Given the description of an element on the screen output the (x, y) to click on. 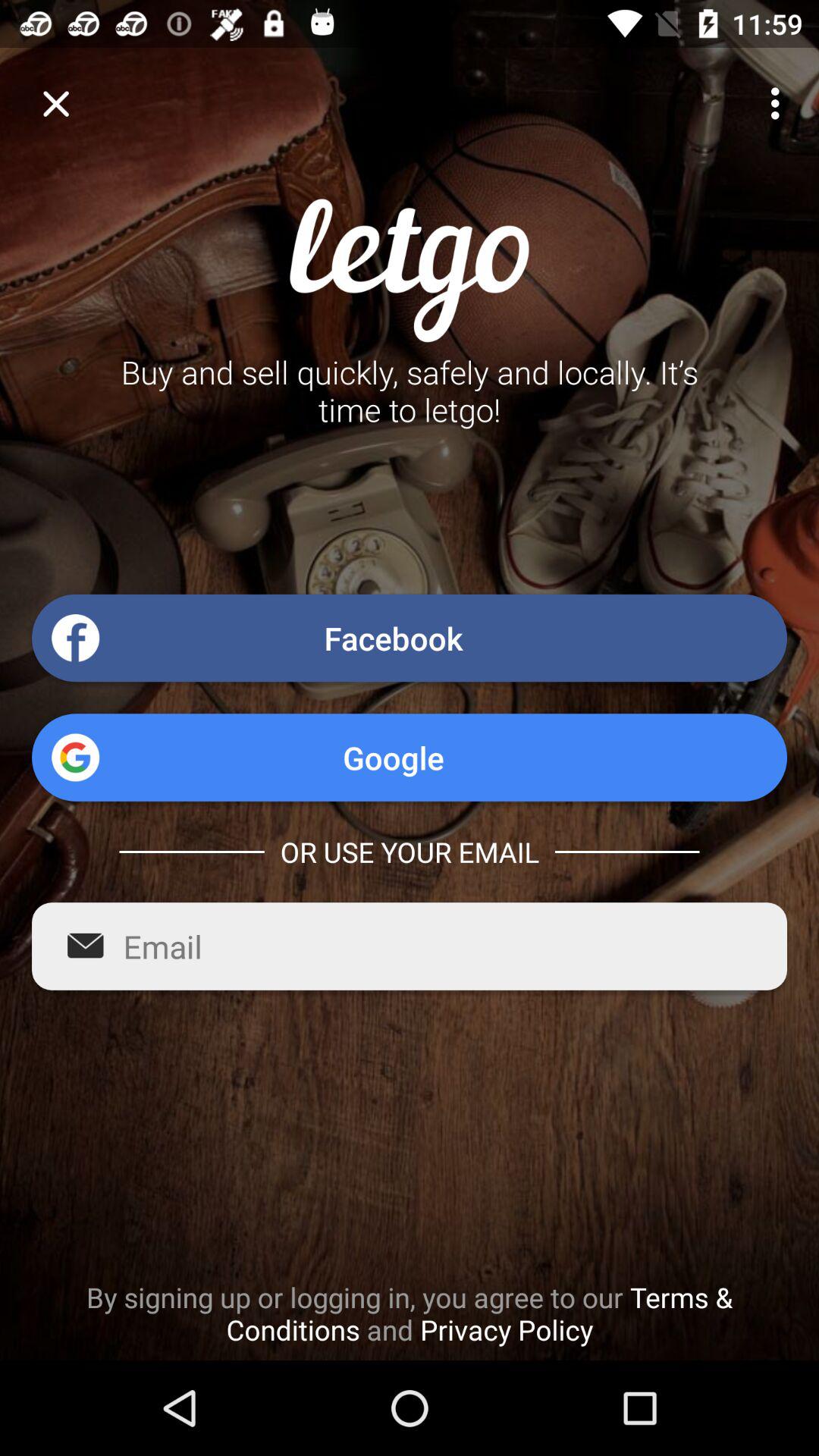
open google (409, 757)
